Given the description of an element on the screen output the (x, y) to click on. 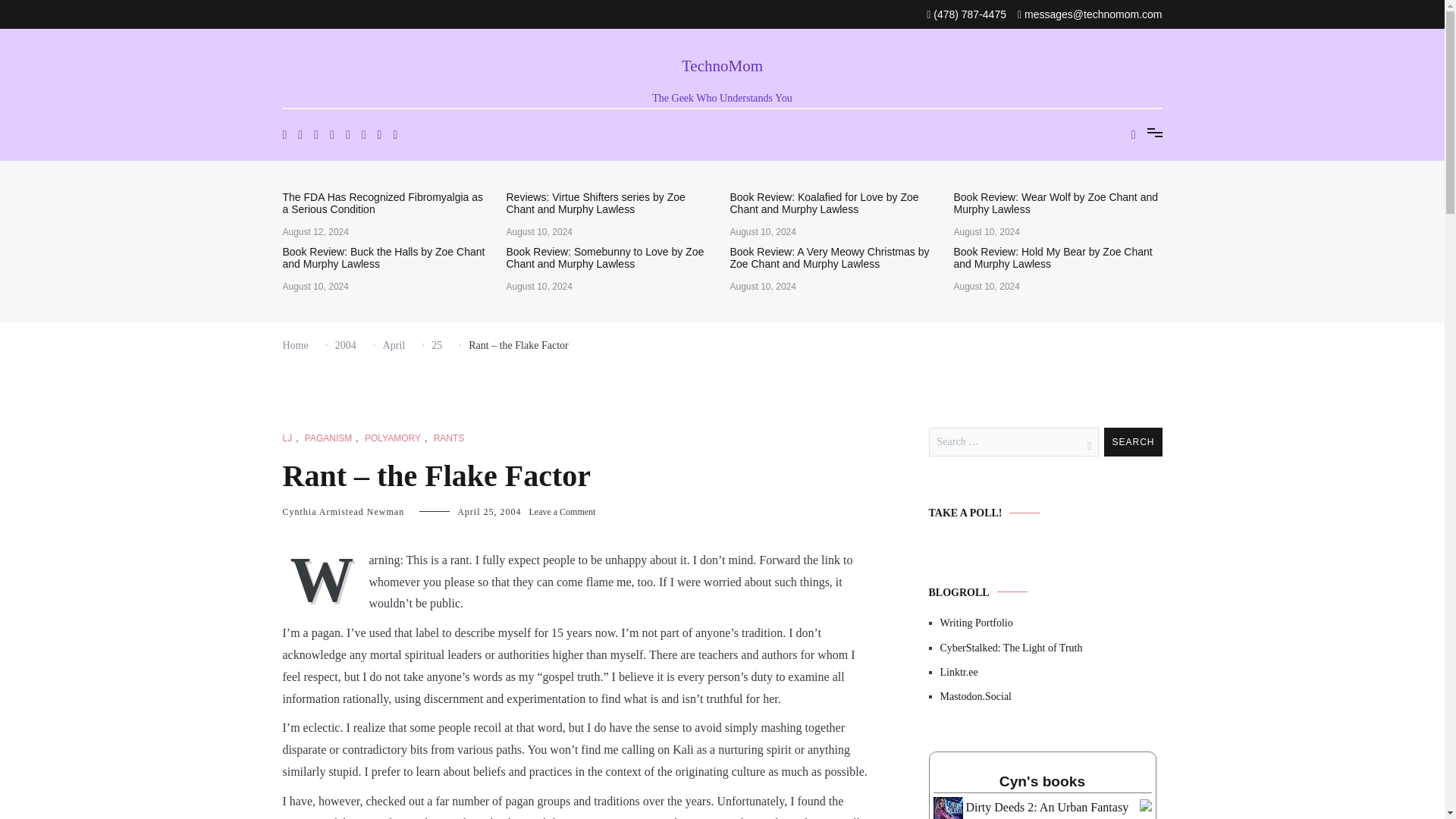
POLYAMORY (392, 438)
TechnoMom (721, 65)
25 (436, 345)
W (325, 577)
Book Review: Buck the Halls by Zoe Chant and Murphy Lawless (386, 257)
April (394, 345)
Book Review: Hold My Bear by Zoe Chant and Murphy Lawless (1057, 257)
Home (294, 345)
RANTS (448, 438)
April 25, 2004 (489, 511)
